Given the description of an element on the screen output the (x, y) to click on. 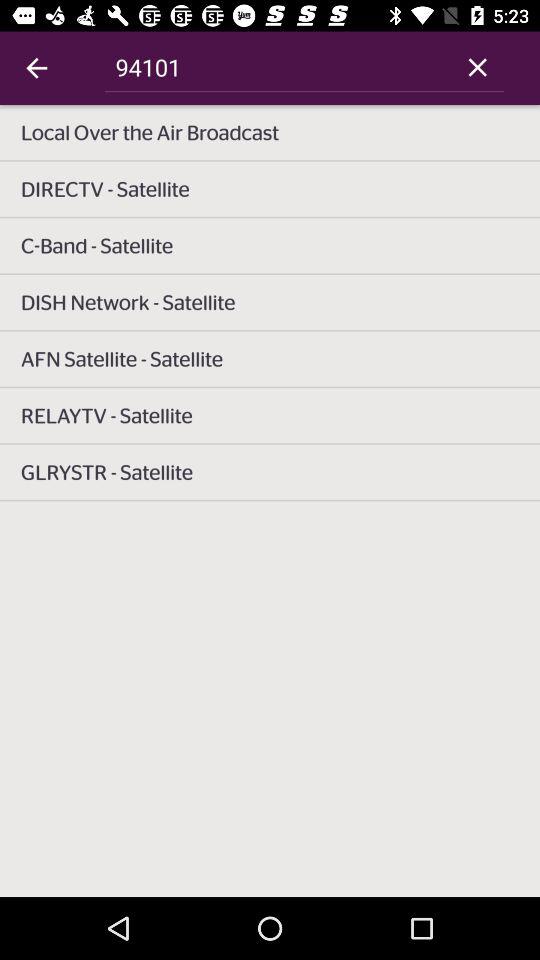
turn on the item above local over the icon (477, 67)
